Given the description of an element on the screen output the (x, y) to click on. 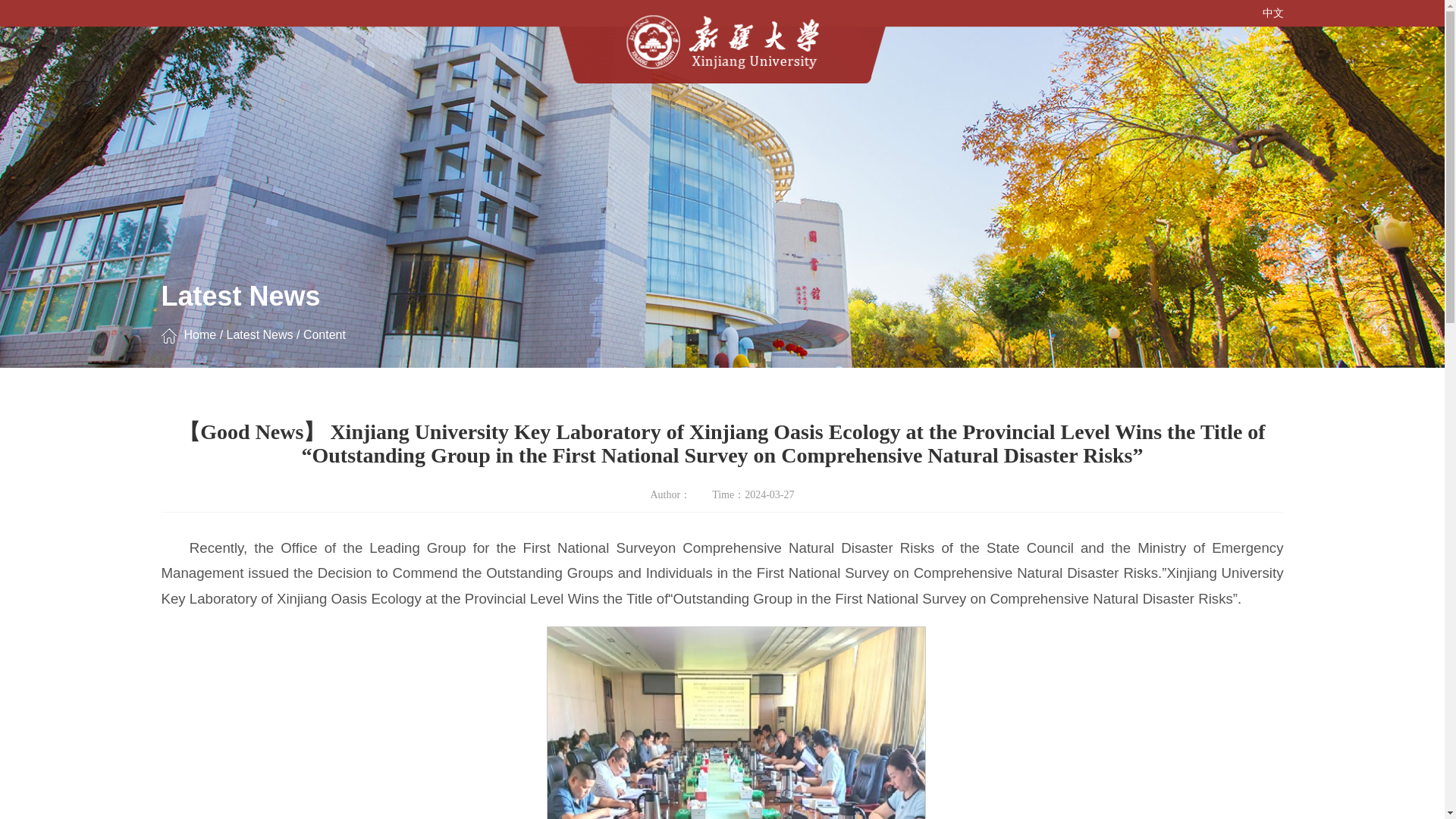
Latest News (260, 345)
Home (199, 347)
